Given the description of an element on the screen output the (x, y) to click on. 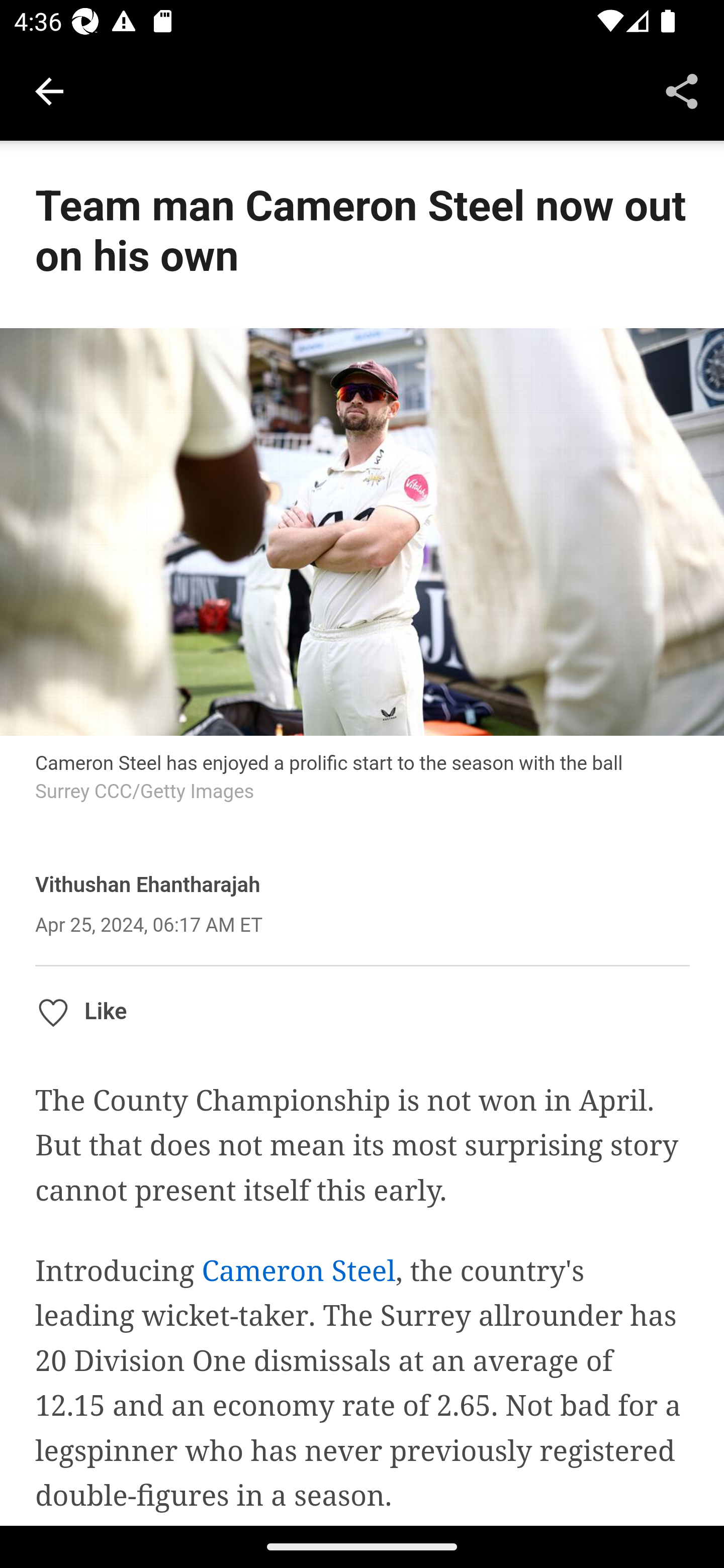
Navigate up (49, 91)
Share (681, 90)
